Given the description of an element on the screen output the (x, y) to click on. 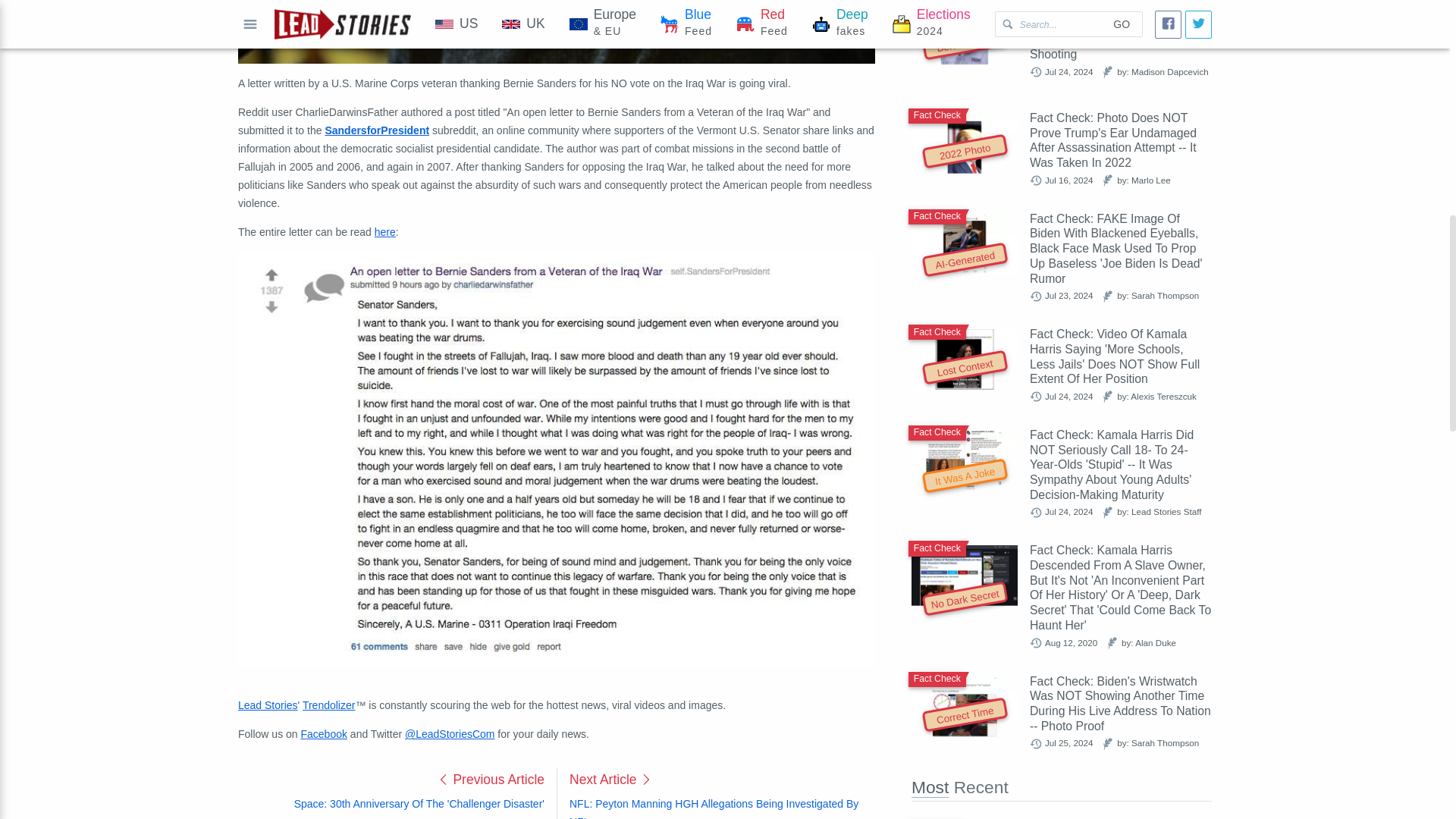
Facebook (322, 734)
Lead Stories (268, 705)
Trendolizer (328, 705)
here (385, 232)
SandersforPresident (376, 130)
